Given the description of an element on the screen output the (x, y) to click on. 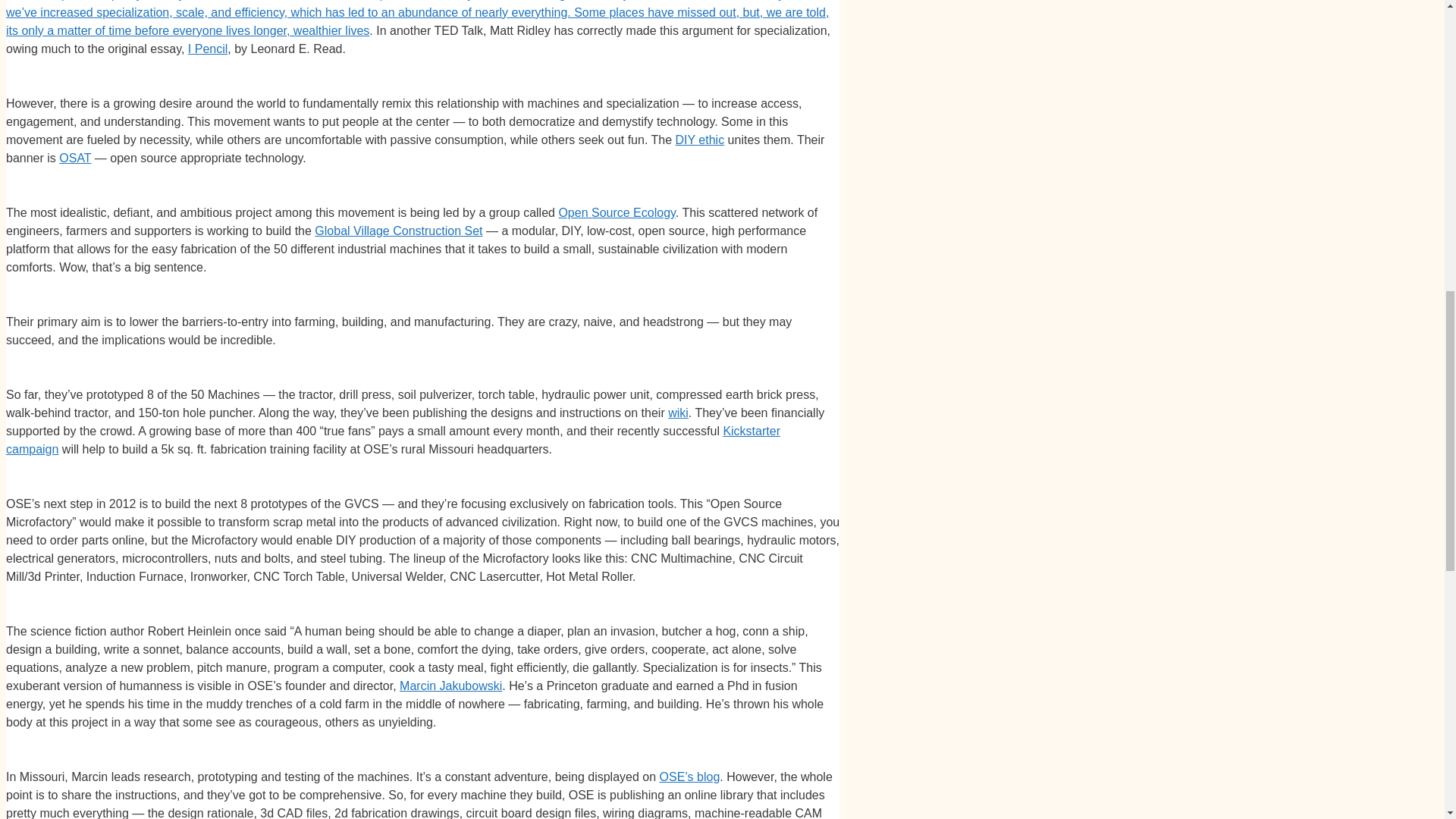
DIY ethic (700, 139)
I Pencil (207, 48)
lives longer, wealthier lives (297, 30)
Kickstarter campaign (392, 440)
OSAT (74, 157)
wiki (678, 412)
Open Source Ecology (616, 212)
Marcin Jakubowski (450, 685)
Global Village Construction Set (397, 230)
